Given the description of an element on the screen output the (x, y) to click on. 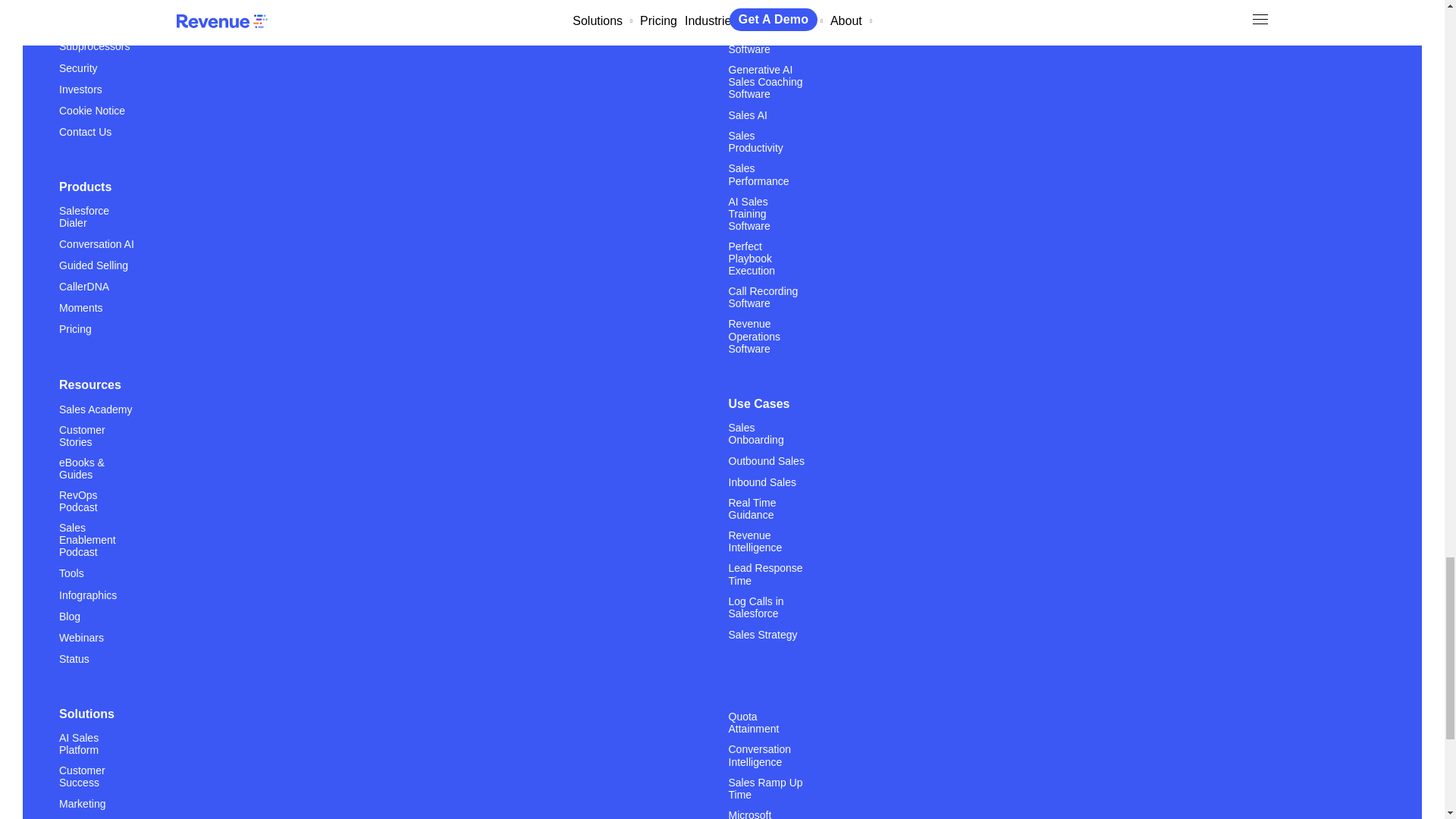
Security (78, 67)
Cookie Notice (92, 110)
Conversation AI (96, 243)
Guided Selling (93, 264)
Events (75, 4)
Salesforce Dialer (97, 222)
Subprocessors (94, 45)
Investors (80, 88)
Contact Us (85, 131)
Support (77, 24)
